Given the description of an element on the screen output the (x, y) to click on. 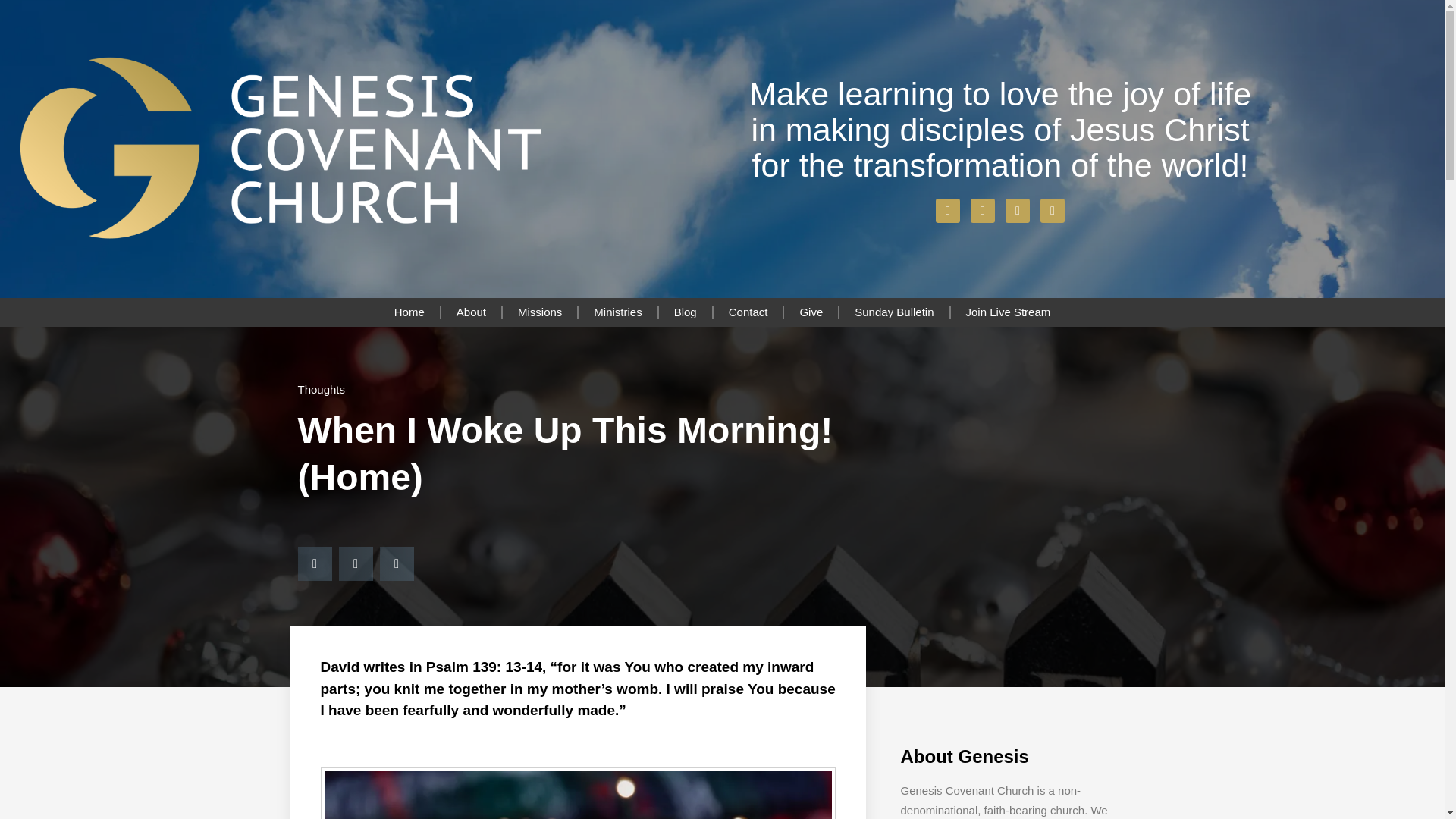
Missions (539, 312)
Join Live Stream (1007, 312)
Blog (685, 312)
Contact (748, 312)
Give (811, 312)
Thoughts (321, 389)
Home (408, 312)
About (470, 312)
Ministries (617, 312)
Sunday Bulletin (894, 312)
